Given the description of an element on the screen output the (x, y) to click on. 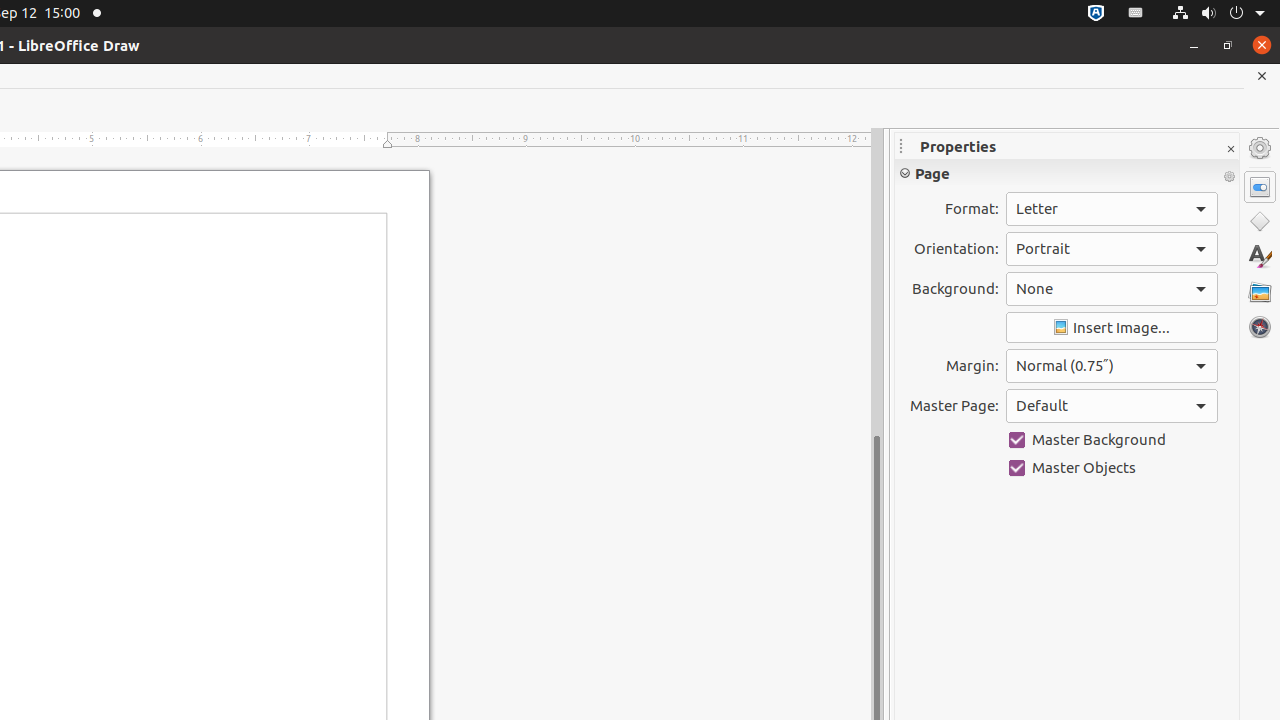
Master Objects Element type: check-box (1112, 468)
Properties Element type: radio-button (1260, 187)
:1.72/StatusNotifierItem Element type: menu (1096, 13)
Gallery Element type: radio-button (1260, 292)
Shapes Element type: radio-button (1260, 222)
